Given the description of an element on the screen output the (x, y) to click on. 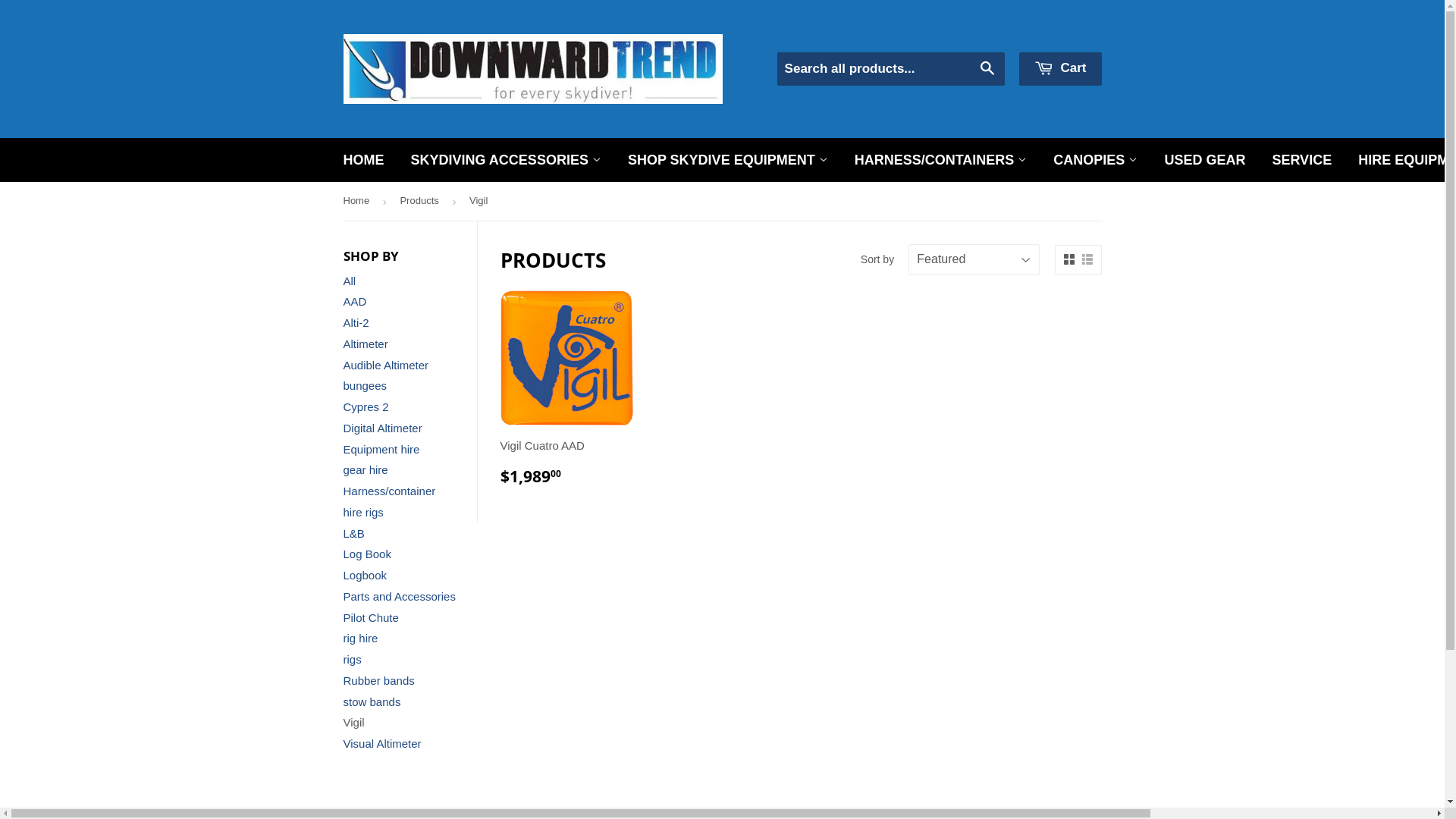
Visual Altimeter Element type: text (381, 743)
Audible Altimeter Element type: text (385, 364)
Grid view Element type: hover (1068, 259)
Home Element type: text (358, 201)
List view Element type: hover (1086, 259)
L&B Element type: text (353, 533)
AAD Element type: text (354, 300)
SERVICE Element type: text (1301, 160)
bungees Element type: text (364, 385)
Alti-2 Element type: text (355, 322)
Digital Altimeter Element type: text (381, 427)
Search Element type: text (987, 69)
Cart Element type: text (1060, 68)
Altimeter Element type: text (364, 343)
HARNESS/CONTAINERS Element type: text (940, 160)
Logbook Element type: text (364, 574)
USED GEAR Element type: text (1204, 160)
Vigil Cuatro AAD
$1,98900 Element type: text (566, 394)
SKYDIVING ACCESSORIES Element type: text (505, 160)
All Element type: text (348, 280)
Rubber bands Element type: text (378, 680)
CANOPIES Element type: text (1094, 160)
Cypres 2 Element type: text (365, 406)
SHOP SKYDIVE EQUIPMENT Element type: text (727, 160)
Harness/container Element type: text (388, 490)
Equipment hire Element type: text (380, 448)
hire rigs Element type: text (362, 511)
Pilot Chute Element type: text (370, 617)
stow bands Element type: text (371, 701)
rigs Element type: text (351, 658)
gear hire Element type: text (364, 469)
Log Book Element type: text (366, 553)
rig hire Element type: text (359, 637)
HOME Element type: text (363, 160)
Products Element type: text (421, 201)
Parts and Accessories Element type: text (398, 595)
